Given the description of an element on the screen output the (x, y) to click on. 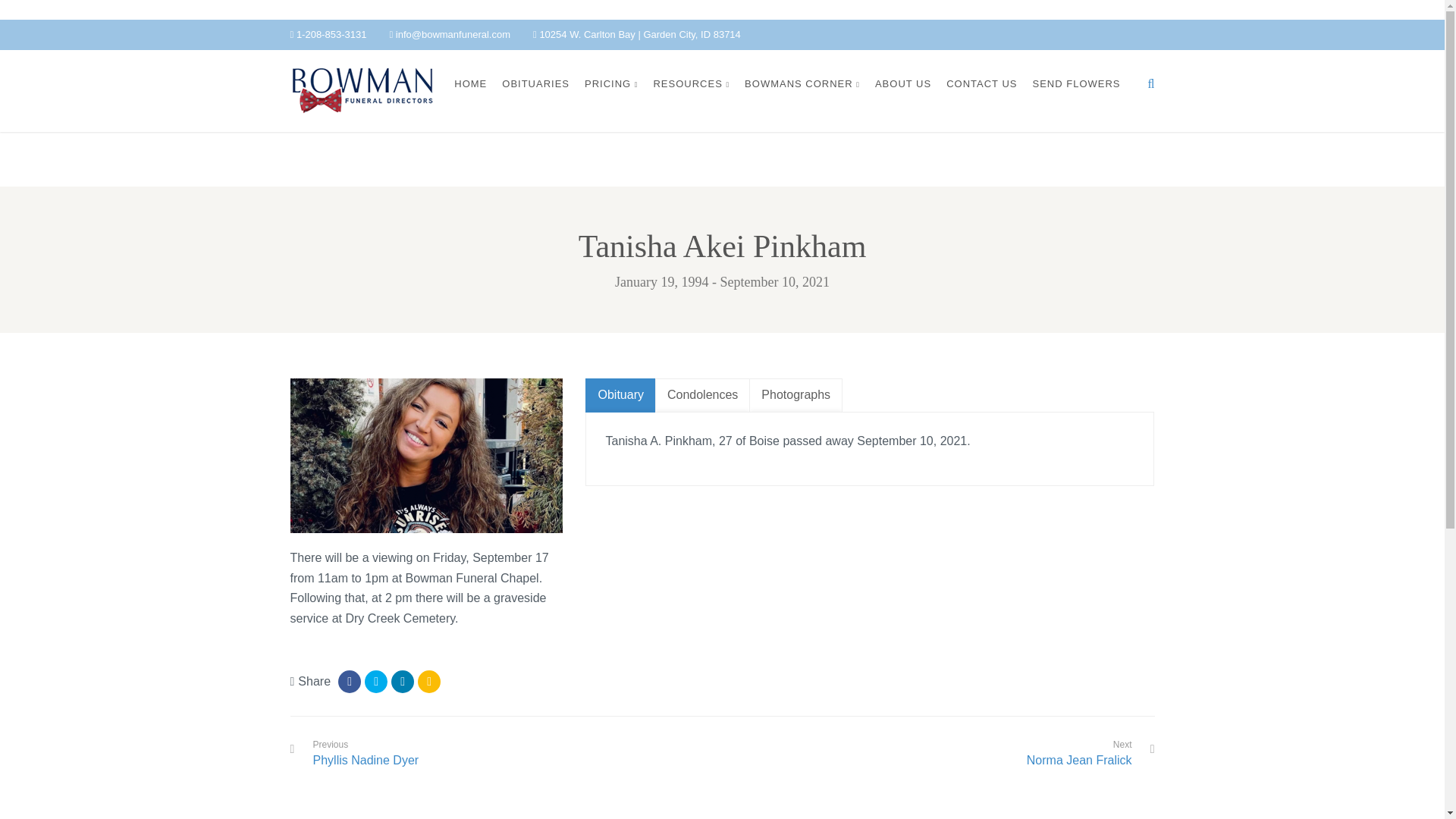
Norma Jean Fralick (1079, 760)
Tweet (376, 681)
OBITUARIES (535, 83)
Photographs (796, 395)
CONTACT US (981, 83)
Email (429, 681)
SEND FLOWERS (1075, 83)
Share on Linkedin (402, 681)
RESOURCES (690, 83)
Obituary (620, 395)
BOWMANS CORNER (802, 83)
Condolences (366, 754)
Share on Facebook (702, 395)
